Given the description of an element on the screen output the (x, y) to click on. 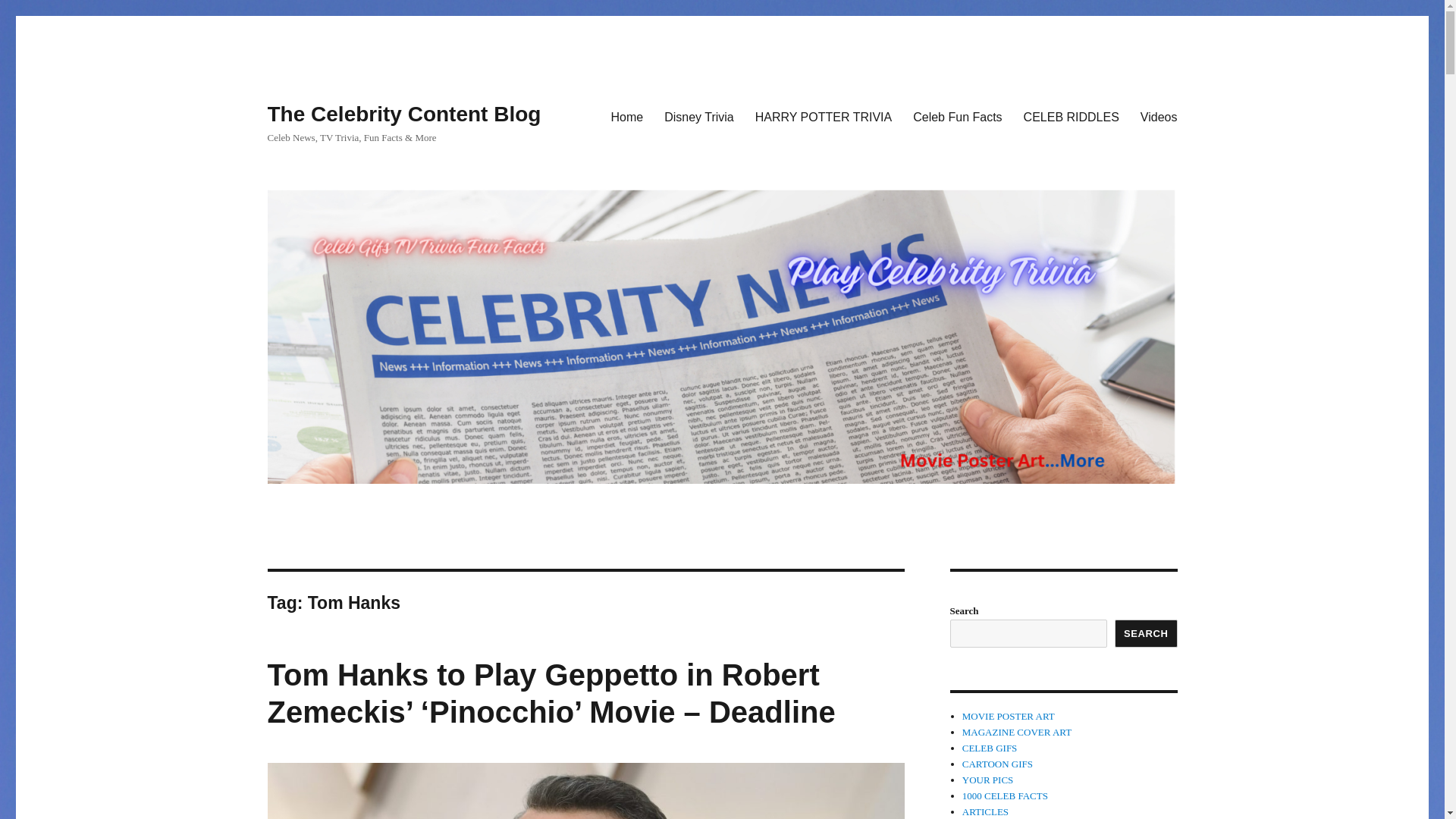
Celeb Fun Facts (956, 116)
Videos (1158, 116)
The Celebrity Content Blog (403, 114)
Disney Trivia (698, 116)
CELEB RIDDLES (1071, 116)
HARRY POTTER TRIVIA (823, 116)
Home (626, 116)
